Given the description of an element on the screen output the (x, y) to click on. 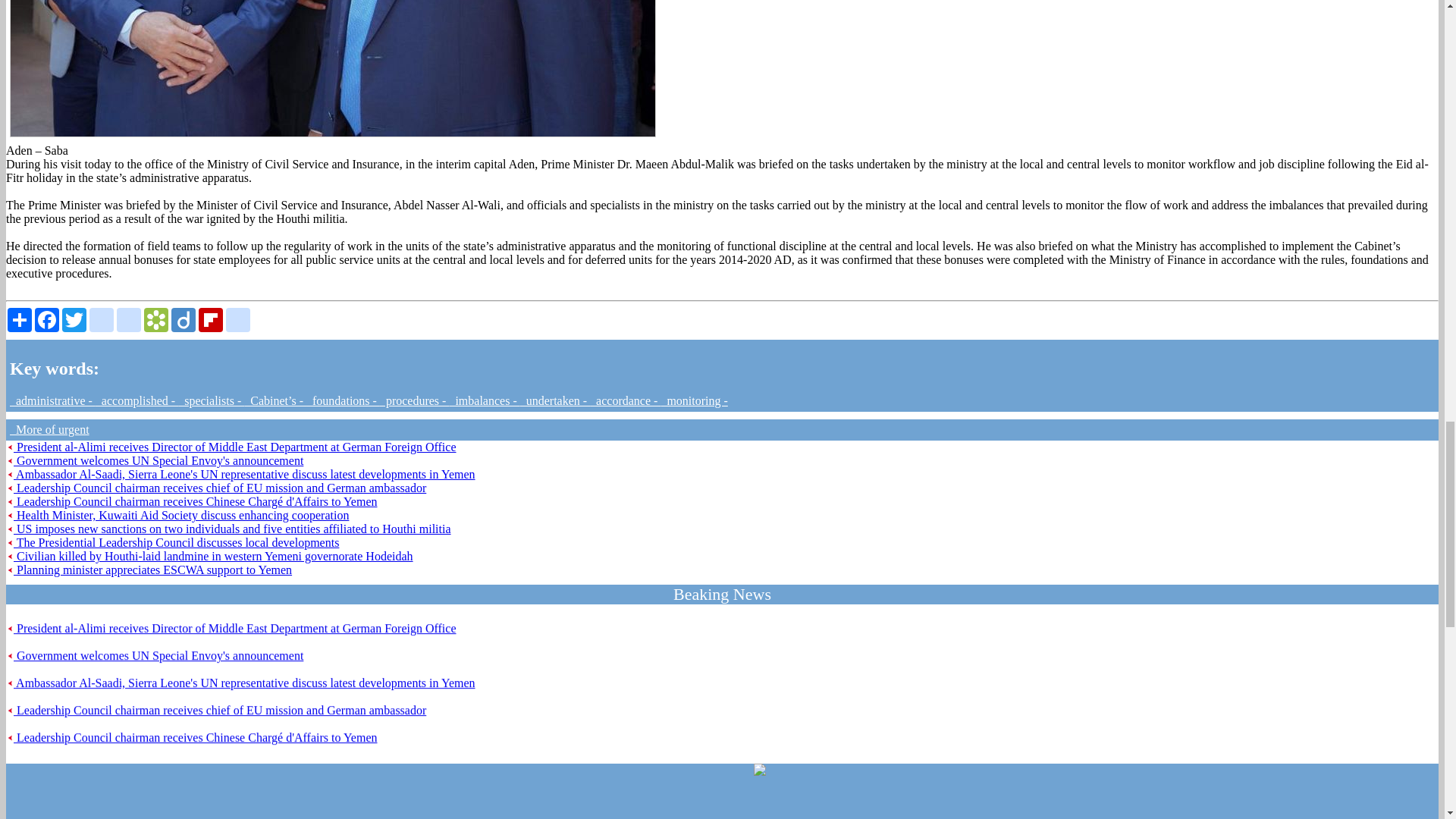
Share (19, 319)
Twitter (74, 319)
Flipboard (210, 319)
Facebook (47, 319)
Diigo (183, 319)
Bookmarks.fr (156, 319)
